Given the description of an element on the screen output the (x, y) to click on. 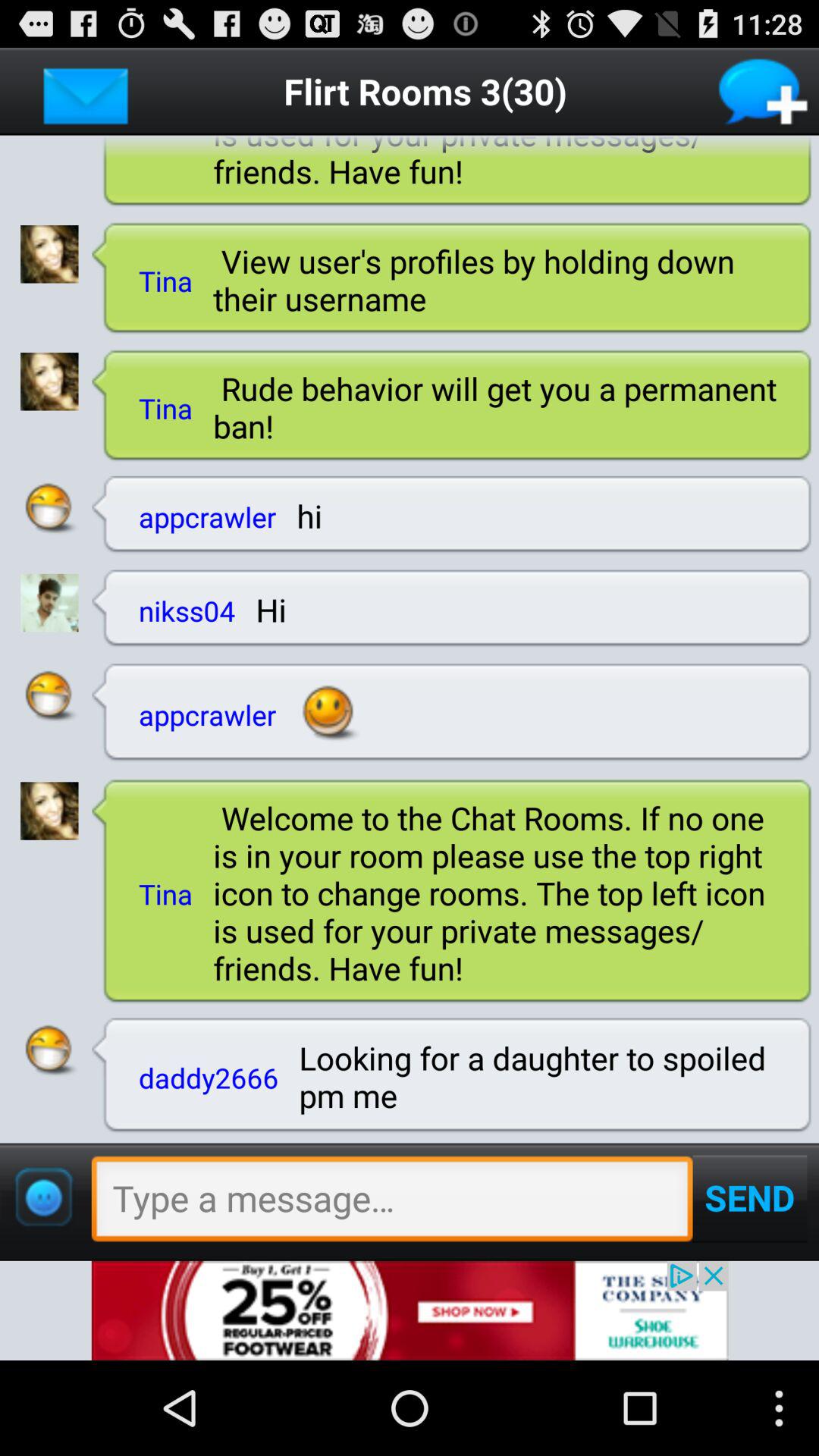
selected emoji (49, 696)
